Given the description of an element on the screen output the (x, y) to click on. 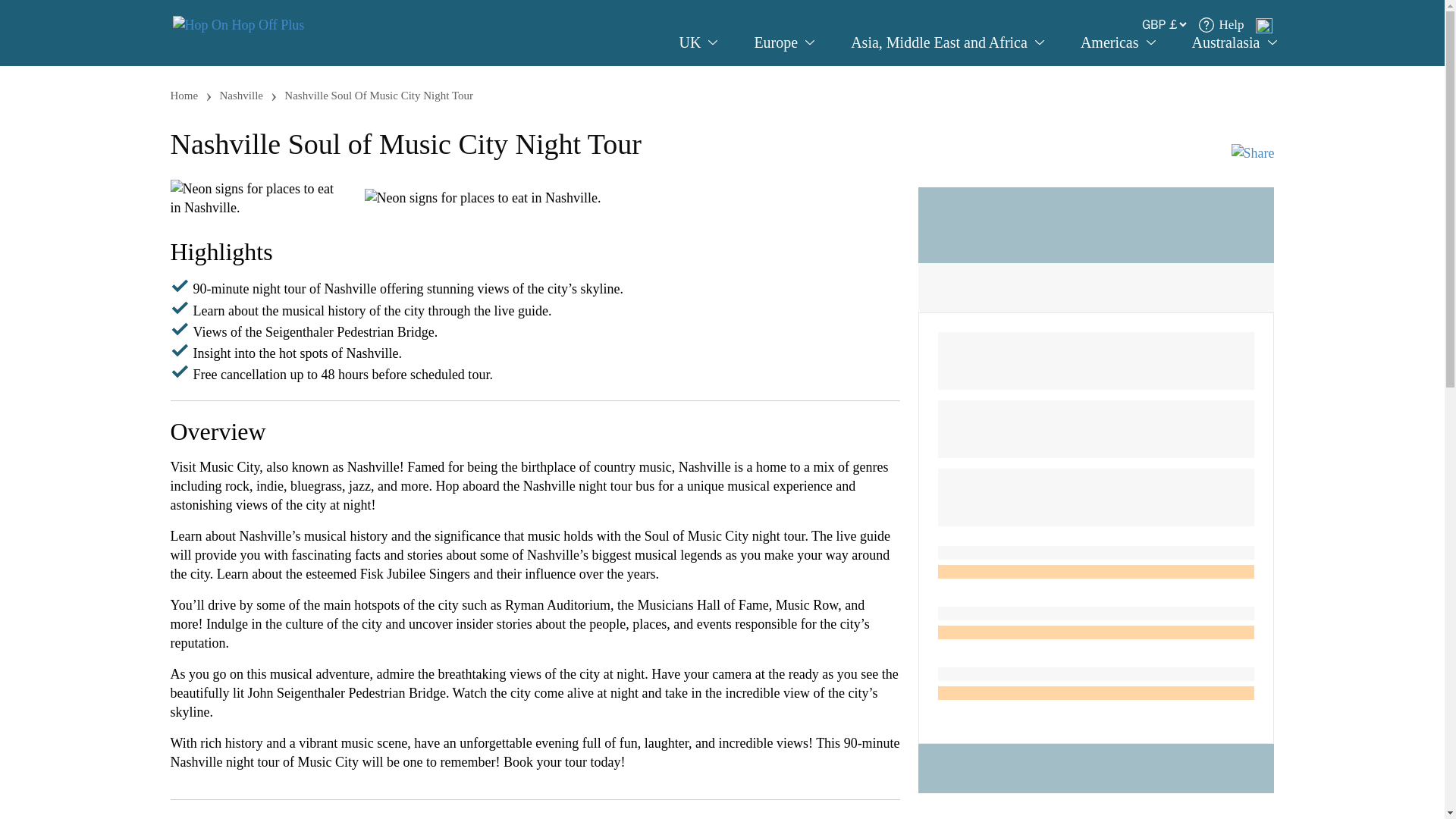
UK (698, 42)
Europe (783, 42)
Hop On Hop Off Plus (238, 23)
Help (1220, 24)
